Given the description of an element on the screen output the (x, y) to click on. 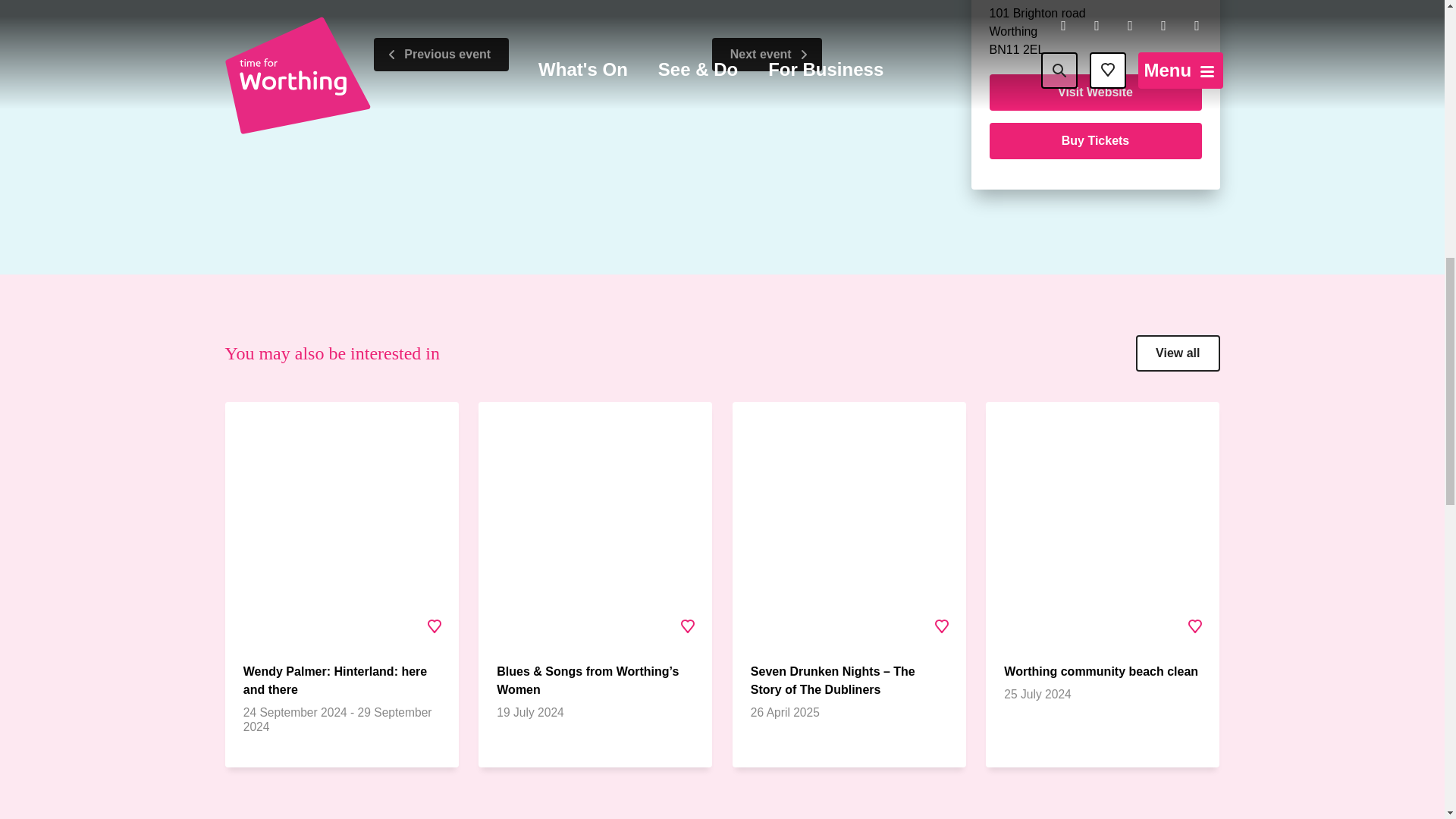
Add to favorites (434, 626)
Add to favorites (941, 626)
Add to favorites (1194, 626)
Add to favorites (687, 626)
